Given the description of an element on the screen output the (x, y) to click on. 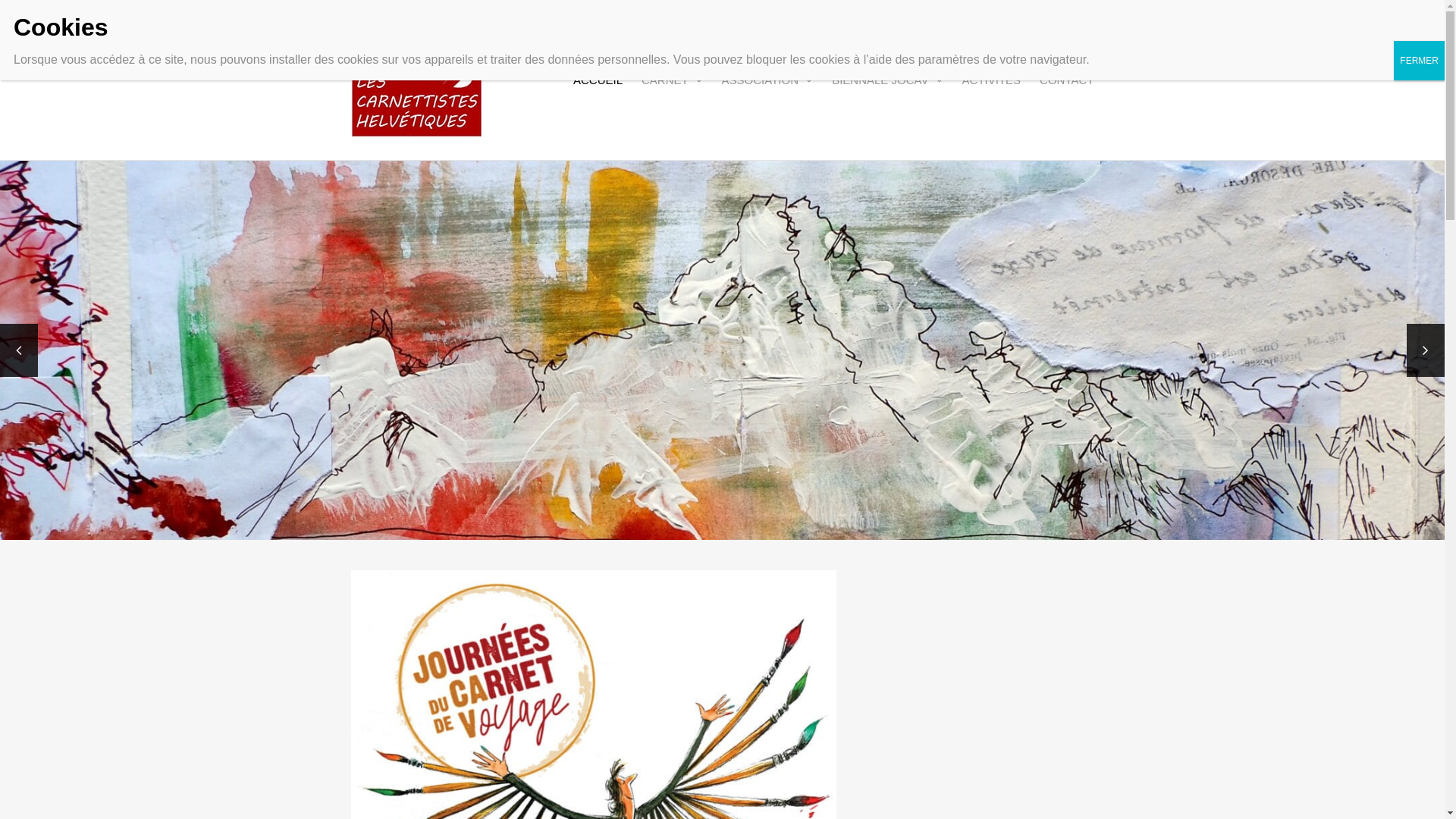
ACCUEIL Element type: text (597, 80)
BIENNALE JOCAV Element type: text (886, 80)
FERMER Element type: text (1418, 60)
Facebook Element type: hover (1284, 34)
Instagram Element type: hover (1318, 34)
CARNET Element type: text (671, 80)
ASSOCIATION Element type: text (767, 80)
ACTIVITES Element type: text (991, 80)
CONTACT Element type: text (1066, 80)
